Given the description of an element on the screen output the (x, y) to click on. 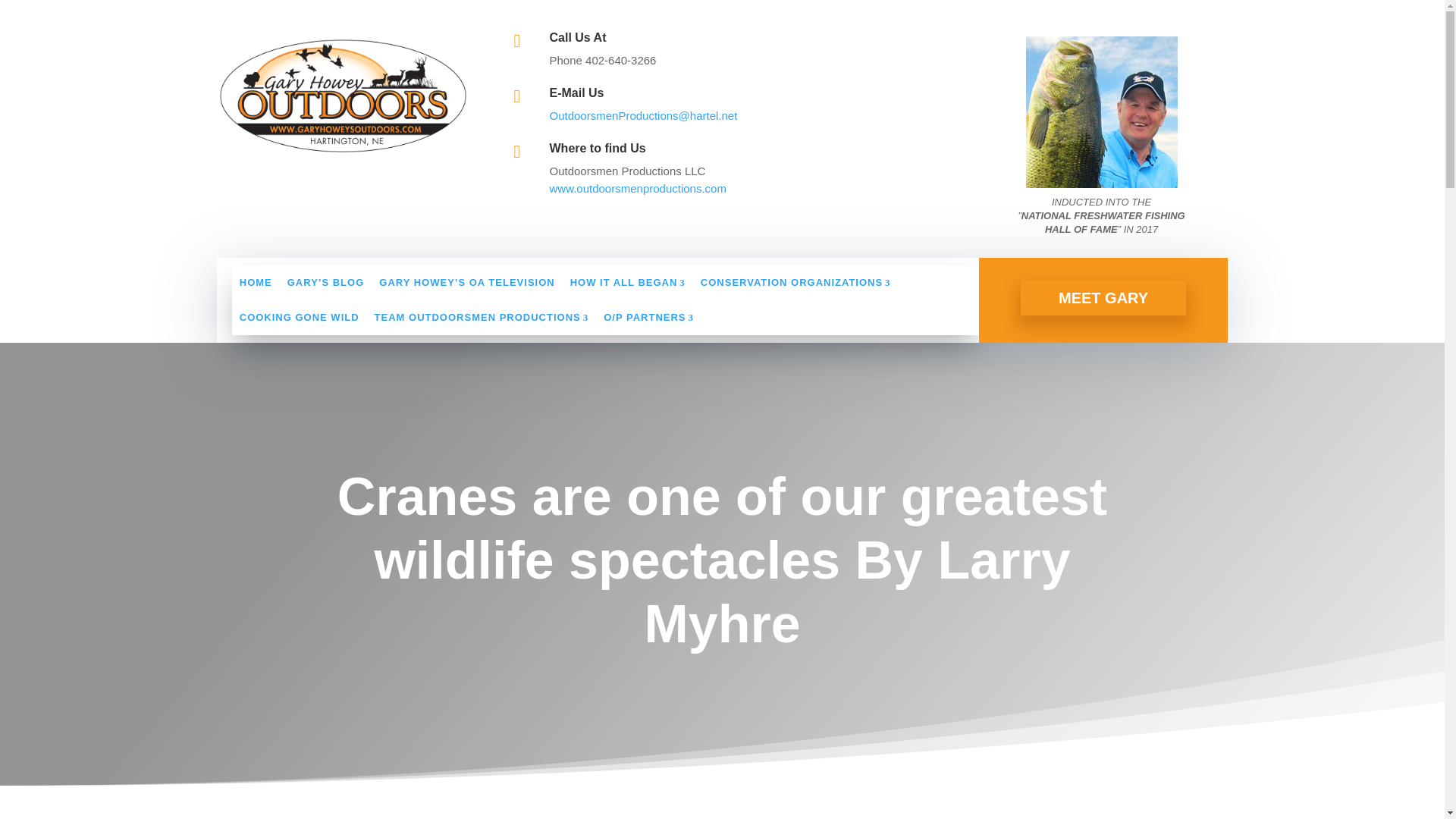
www.outdoorsmenproductions.com (636, 187)
COOKING GONE WILD (298, 317)
HOME (255, 282)
HOW IT ALL BEGAN (627, 282)
MEET GARY (1103, 297)
TEAM OUTDOORSMEN PRODUCTIONS (481, 317)
CONSERVATION ORGANIZATIONS (795, 282)
Gary-LM-Bass-sq (1101, 112)
